Given the description of an element on the screen output the (x, y) to click on. 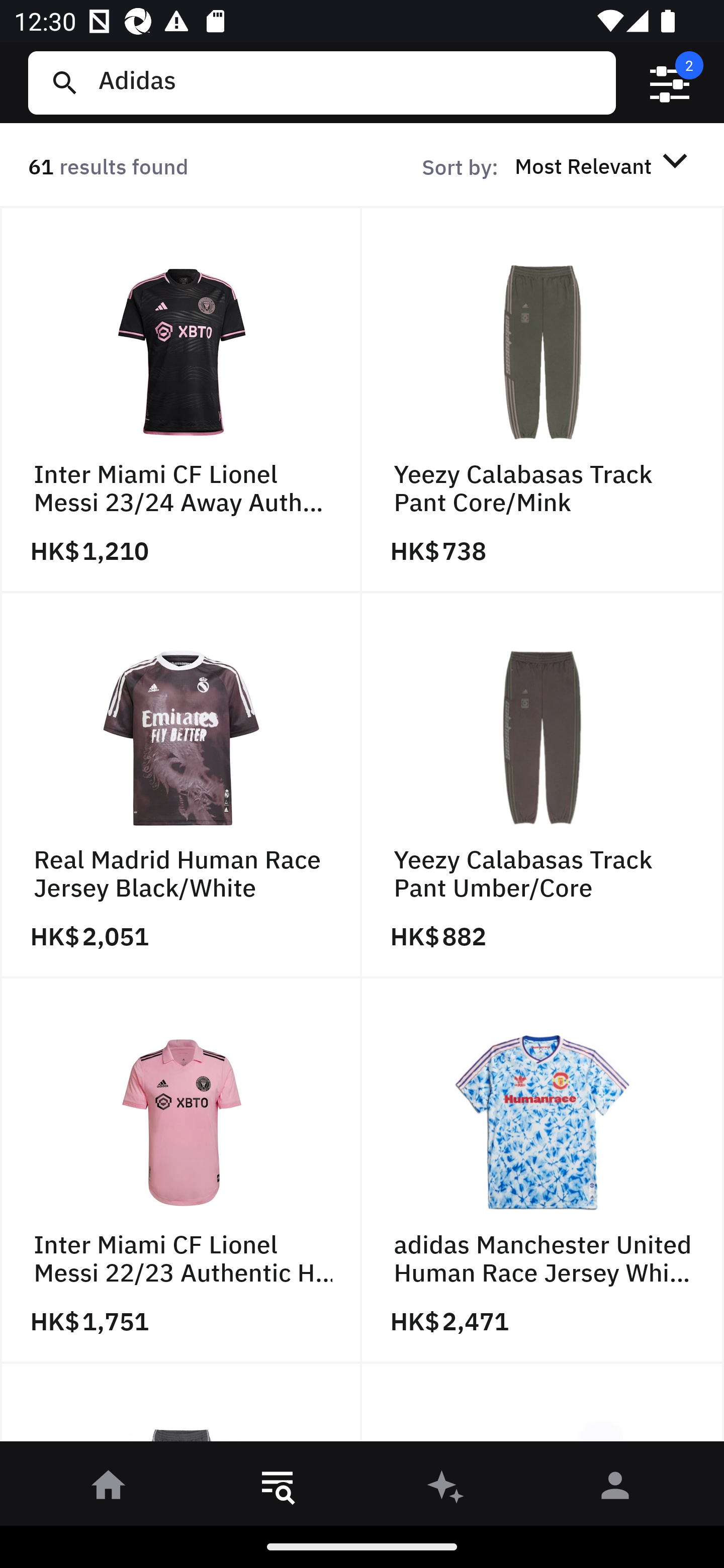
Adidas (349, 82)
 (669, 82)
Most Relevant  (604, 165)
Yeezy Calabasas Track Pant Core/Mink HK$ 738 (543, 399)
Yeezy Calabasas Track Pant Umber/Core HK$ 882 (543, 785)
󰋜 (108, 1488)
󱎸 (277, 1488)
󰫢 (446, 1488)
󰀄 (615, 1488)
